Given the description of an element on the screen output the (x, y) to click on. 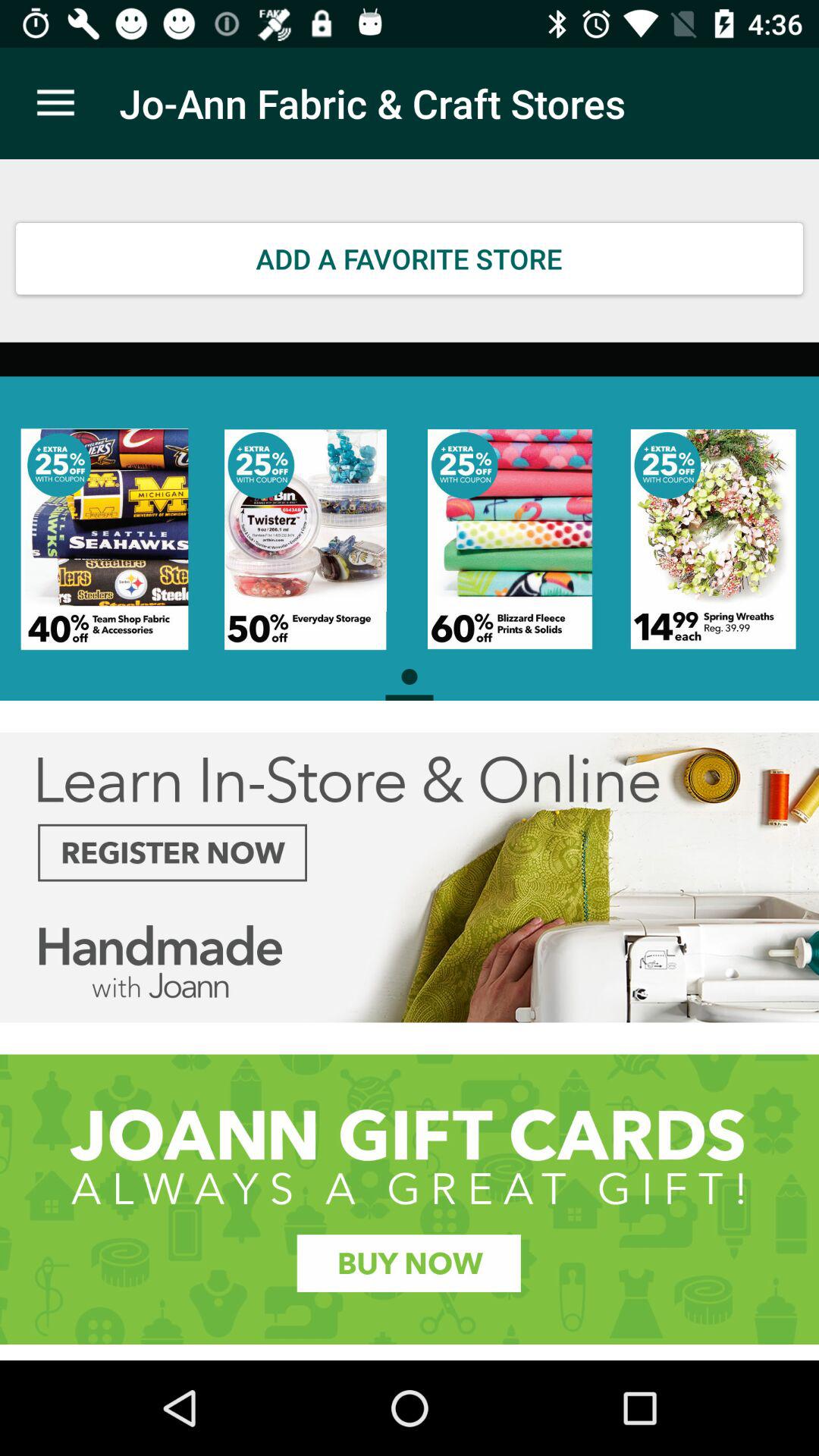
press the item below the add a favorite (409, 521)
